Given the description of an element on the screen output the (x, y) to click on. 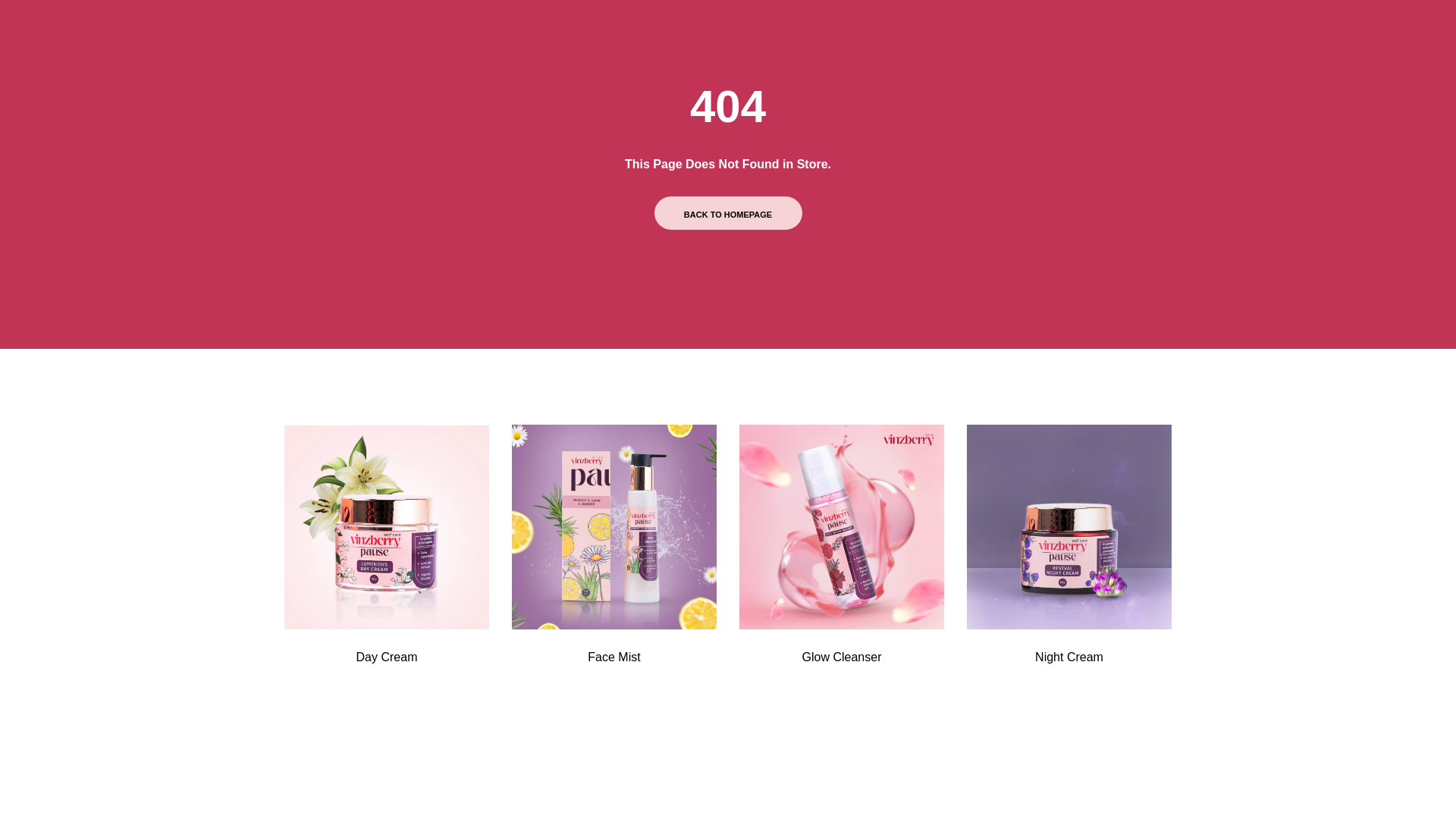
BACK TO HOMEPAGE (727, 213)
